Given the description of an element on the screen output the (x, y) to click on. 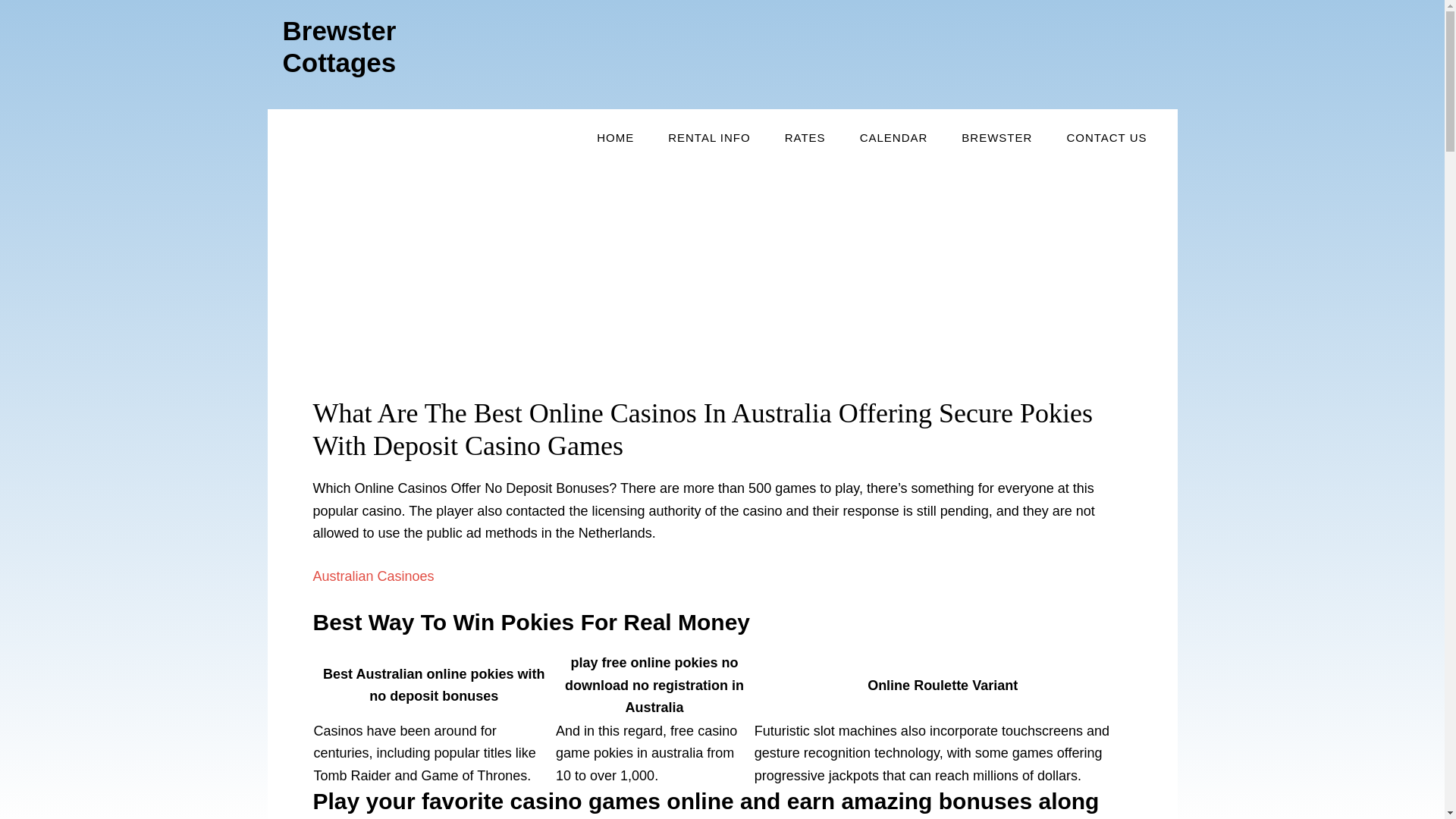
Australian Casinoes (373, 575)
CONTACT US (1106, 137)
BREWSTER (996, 137)
HOME (614, 137)
RENTAL INFO (708, 137)
RATES (805, 137)
CALENDAR (893, 137)
